Given the description of an element on the screen output the (x, y) to click on. 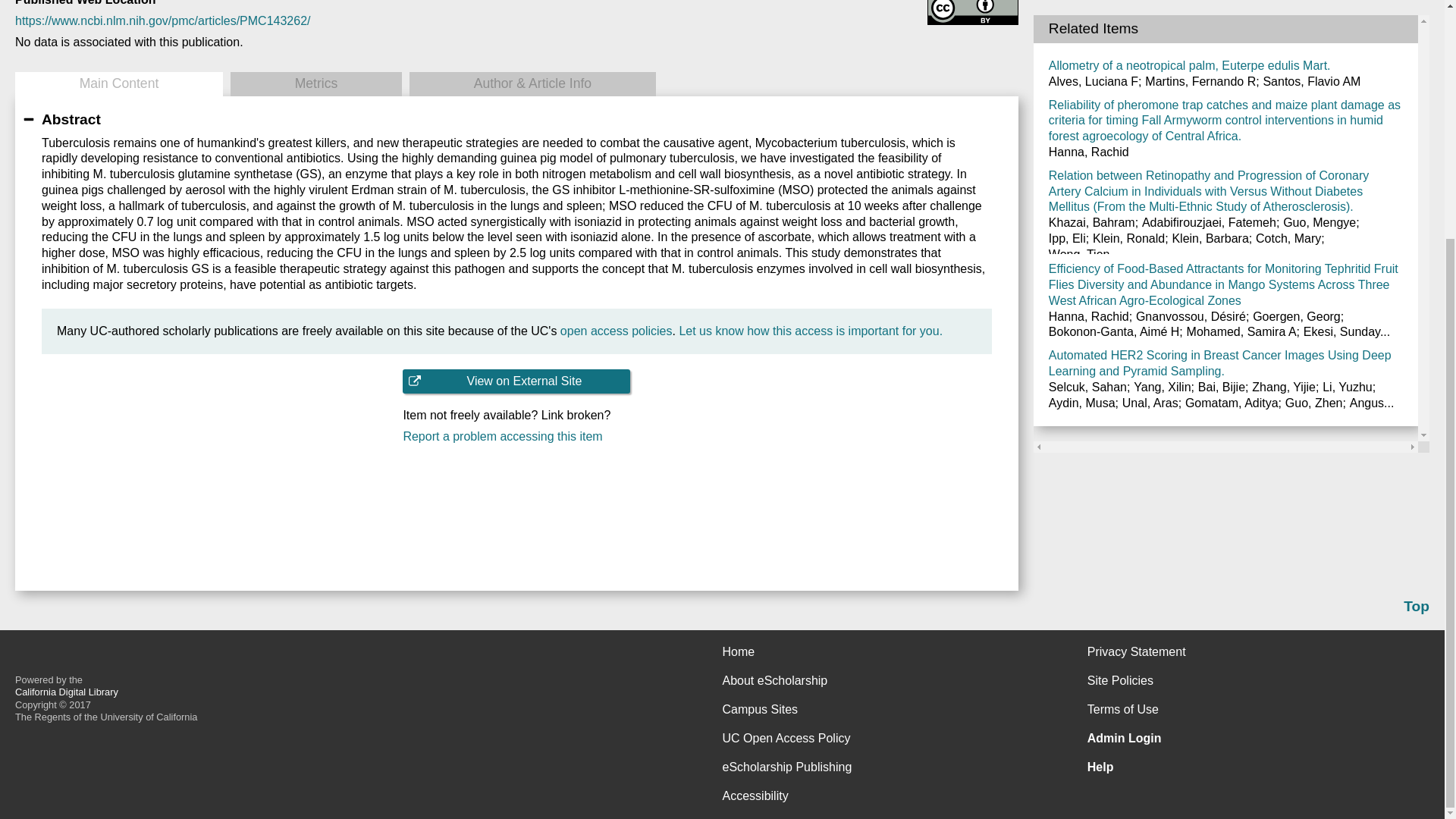
Let us know how this access is important for you. (810, 330)
open access policies (616, 330)
Hanna, Rachid (1088, 8)
Main Content (118, 84)
View on External Site (516, 381)
Metrics (315, 84)
Report a problem accessing this item (516, 436)
